Given the description of an element on the screen output the (x, y) to click on. 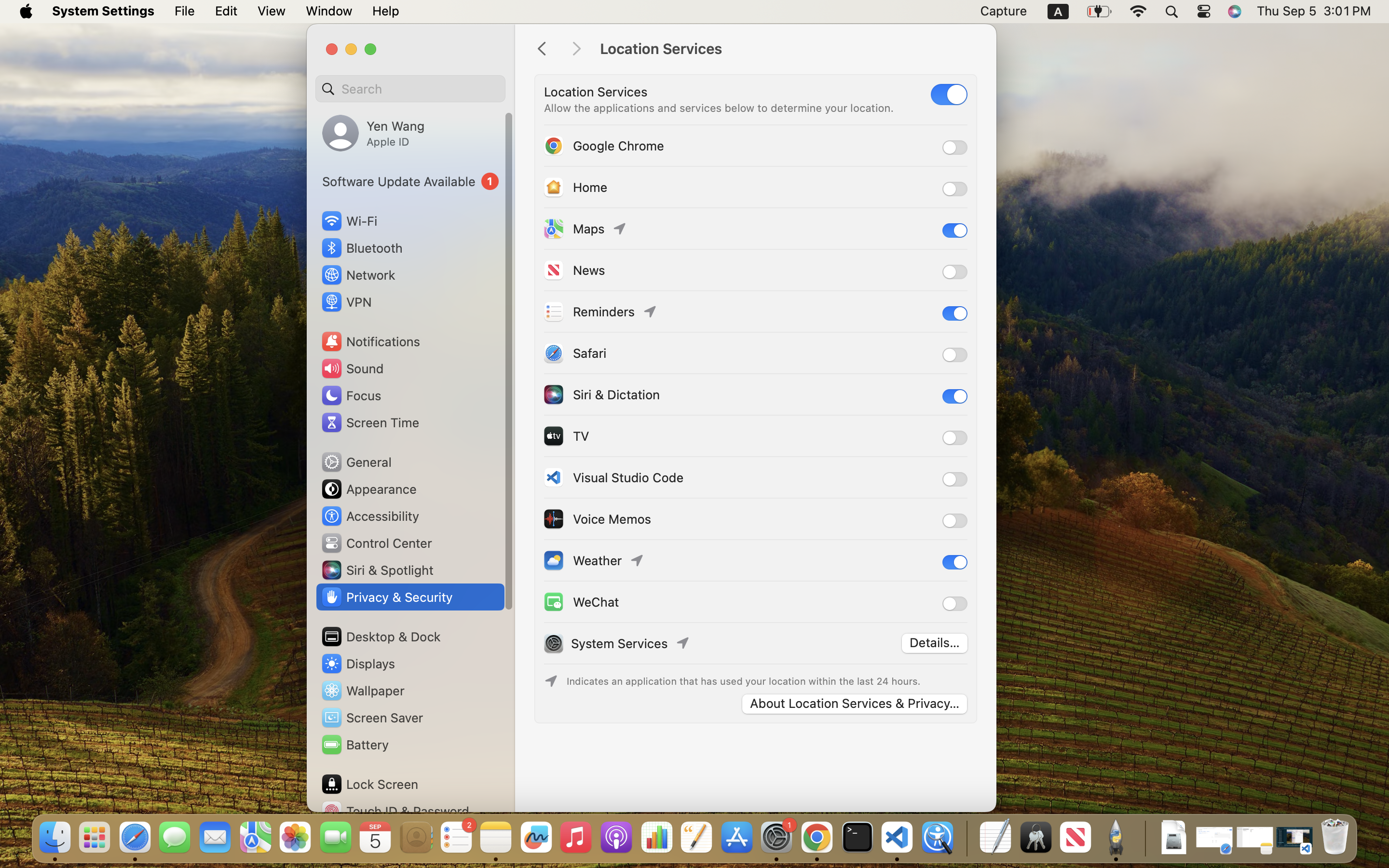
Privacy & Security Element type: AXStaticText (386, 596)
Reminders Element type: AXStaticText (588, 311)
Focus Element type: AXStaticText (350, 394)
Weather Element type: AXStaticText (582, 559)
Siri & Spotlight Element type: AXStaticText (376, 569)
